Given the description of an element on the screen output the (x, y) to click on. 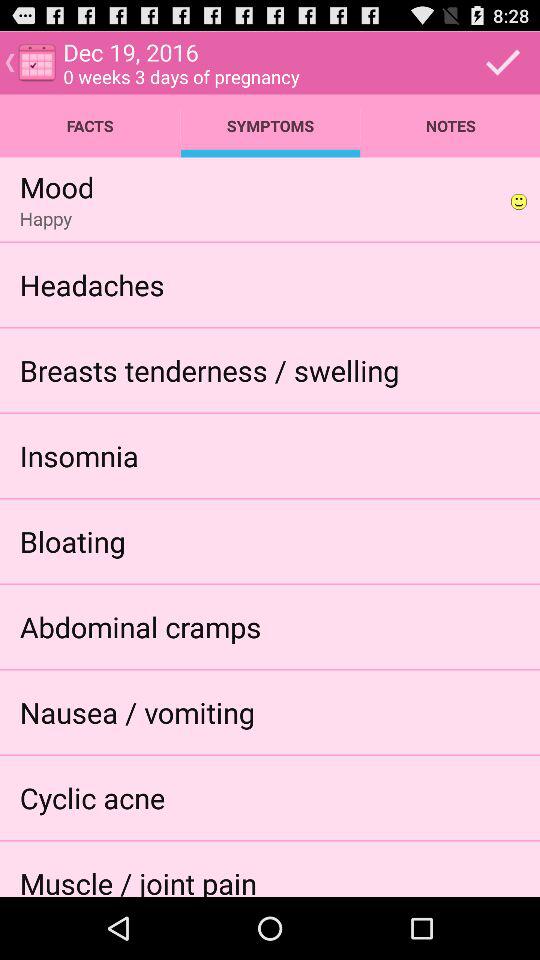
select the item above the notes (503, 62)
